Given the description of an element on the screen output the (x, y) to click on. 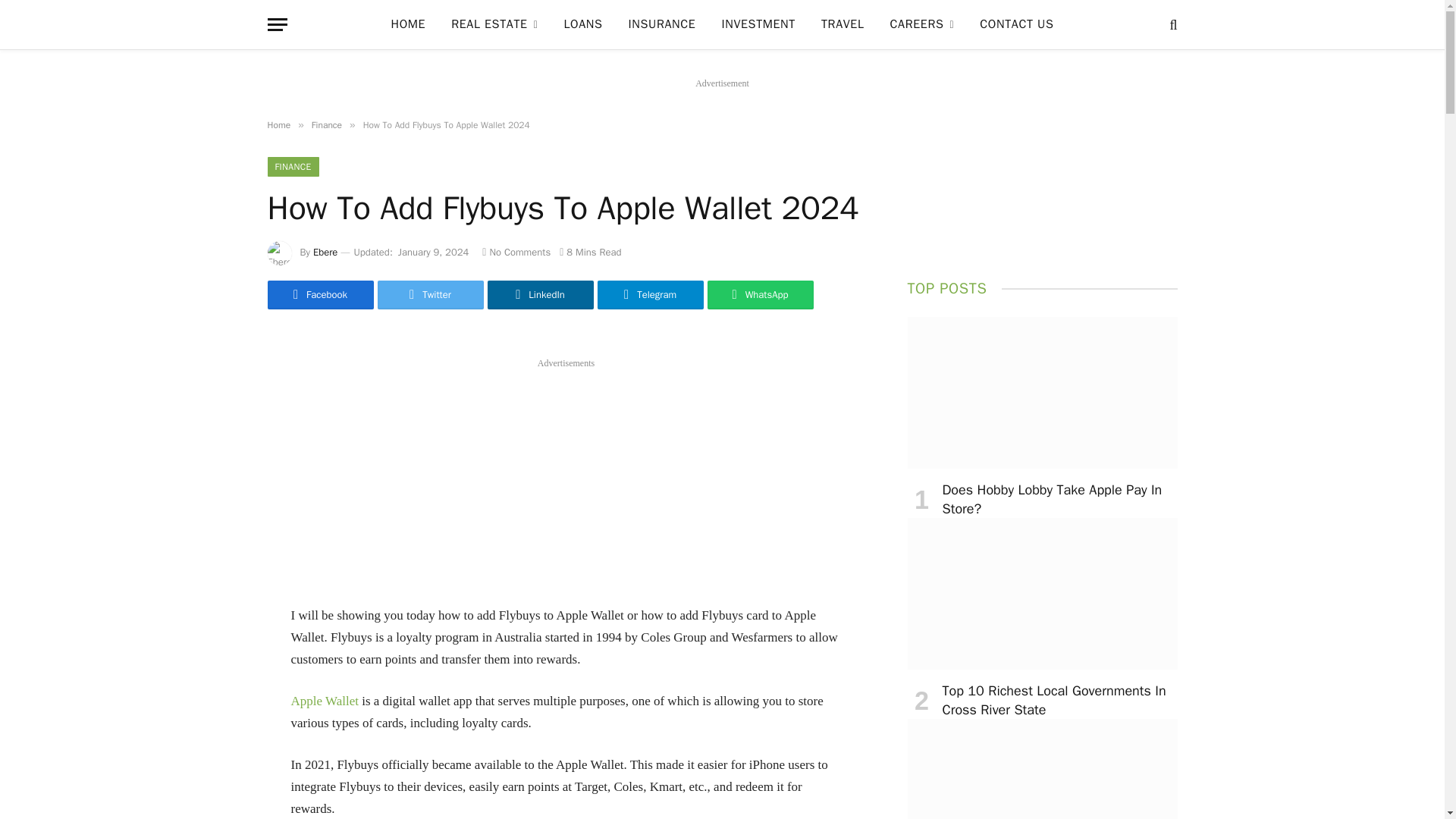
REAL ESTATE (494, 24)
HOME (407, 24)
